Given the description of an element on the screen output the (x, y) to click on. 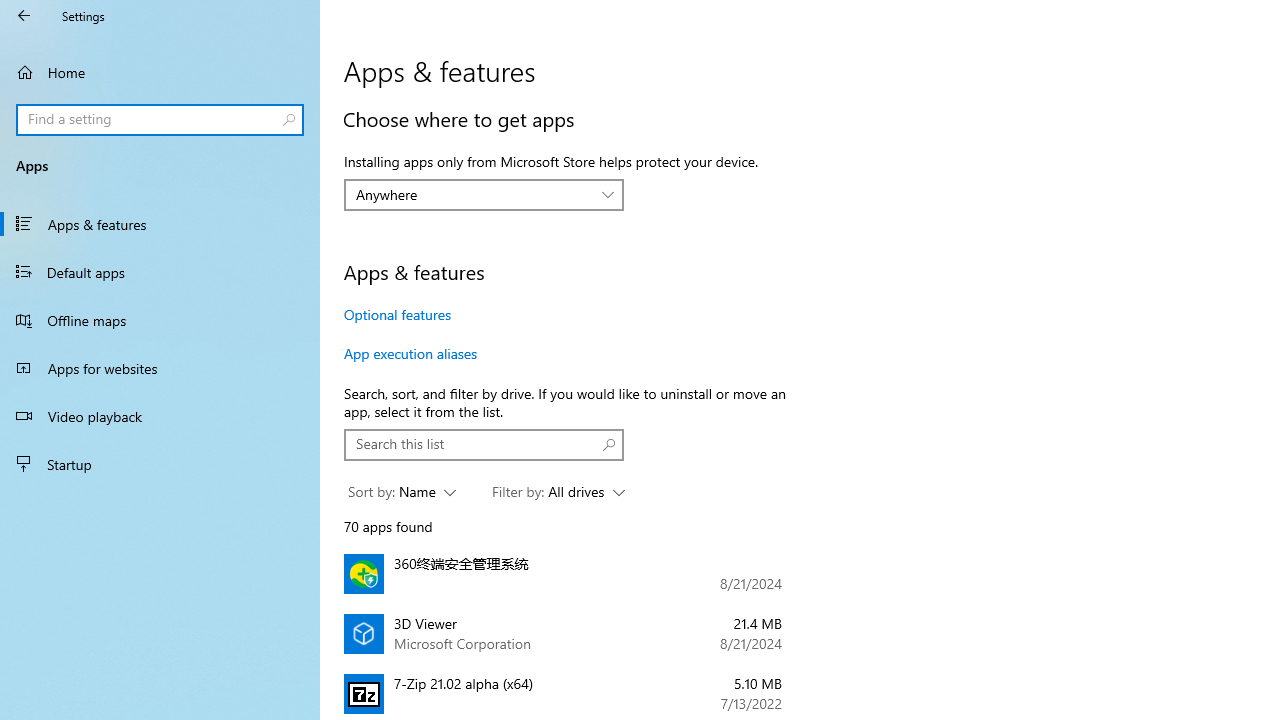
App execution aliases (410, 353)
Anywhere (473, 194)
Search box, Find a setting (160, 119)
